Given the description of an element on the screen output the (x, y) to click on. 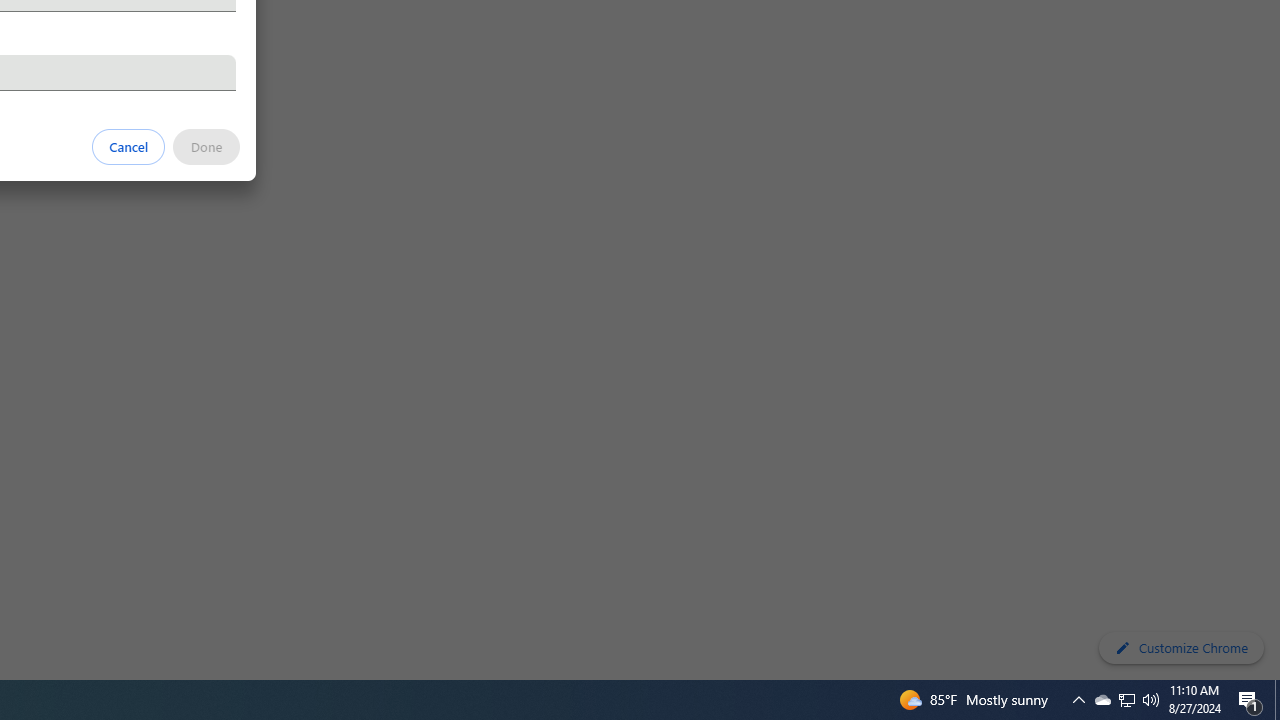
Cancel (129, 146)
Done (206, 146)
